Given the description of an element on the screen output the (x, y) to click on. 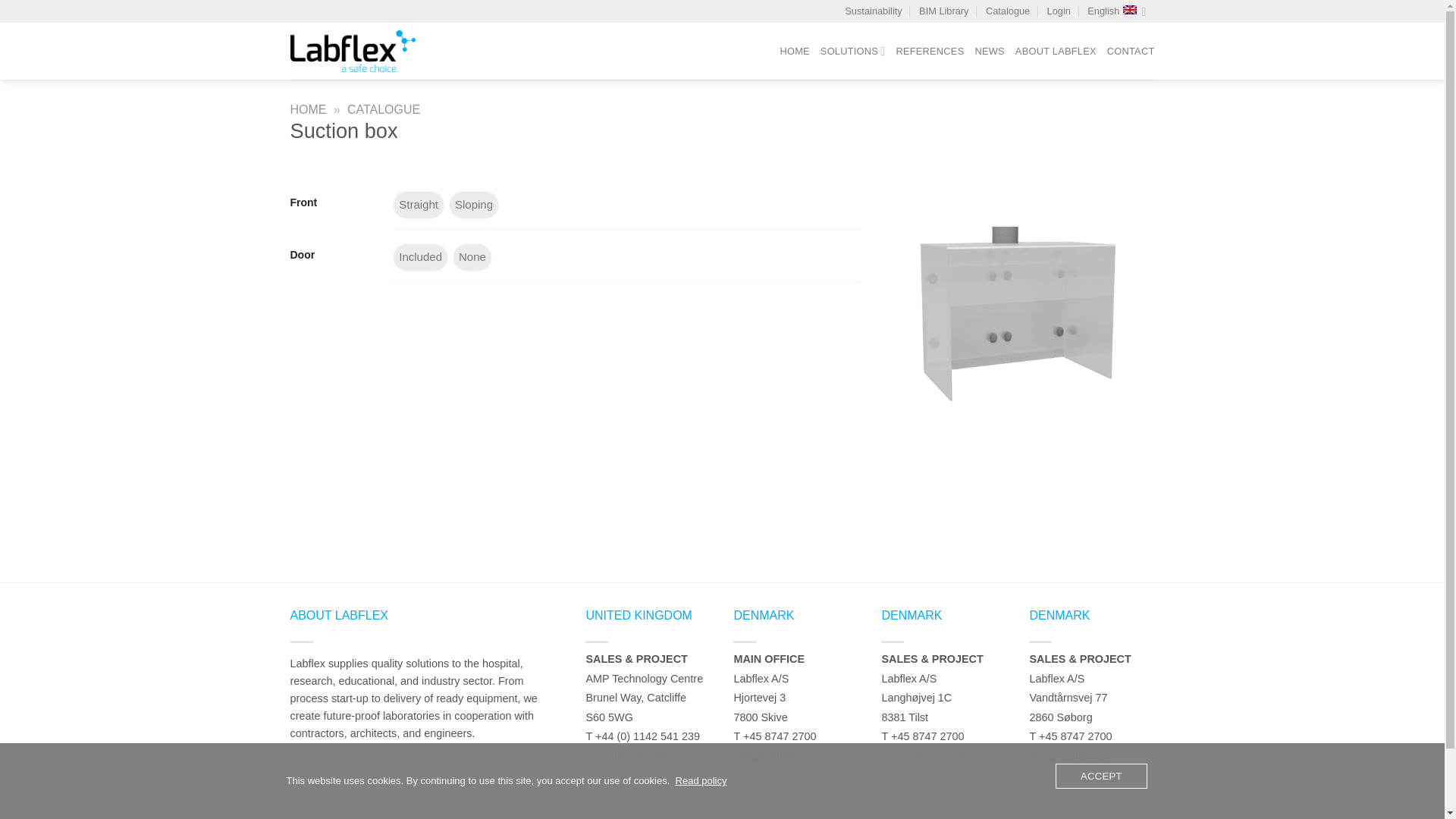
Sustainability (872, 11)
English (1116, 11)
REFERENCES (929, 51)
BIM Library (943, 11)
Login (1058, 11)
Labflex - A safe choice (377, 50)
ABOUT LABFLEX (1055, 51)
None (472, 257)
CONTACT (1130, 51)
HOME (793, 51)
